Given the description of an element on the screen output the (x, y) to click on. 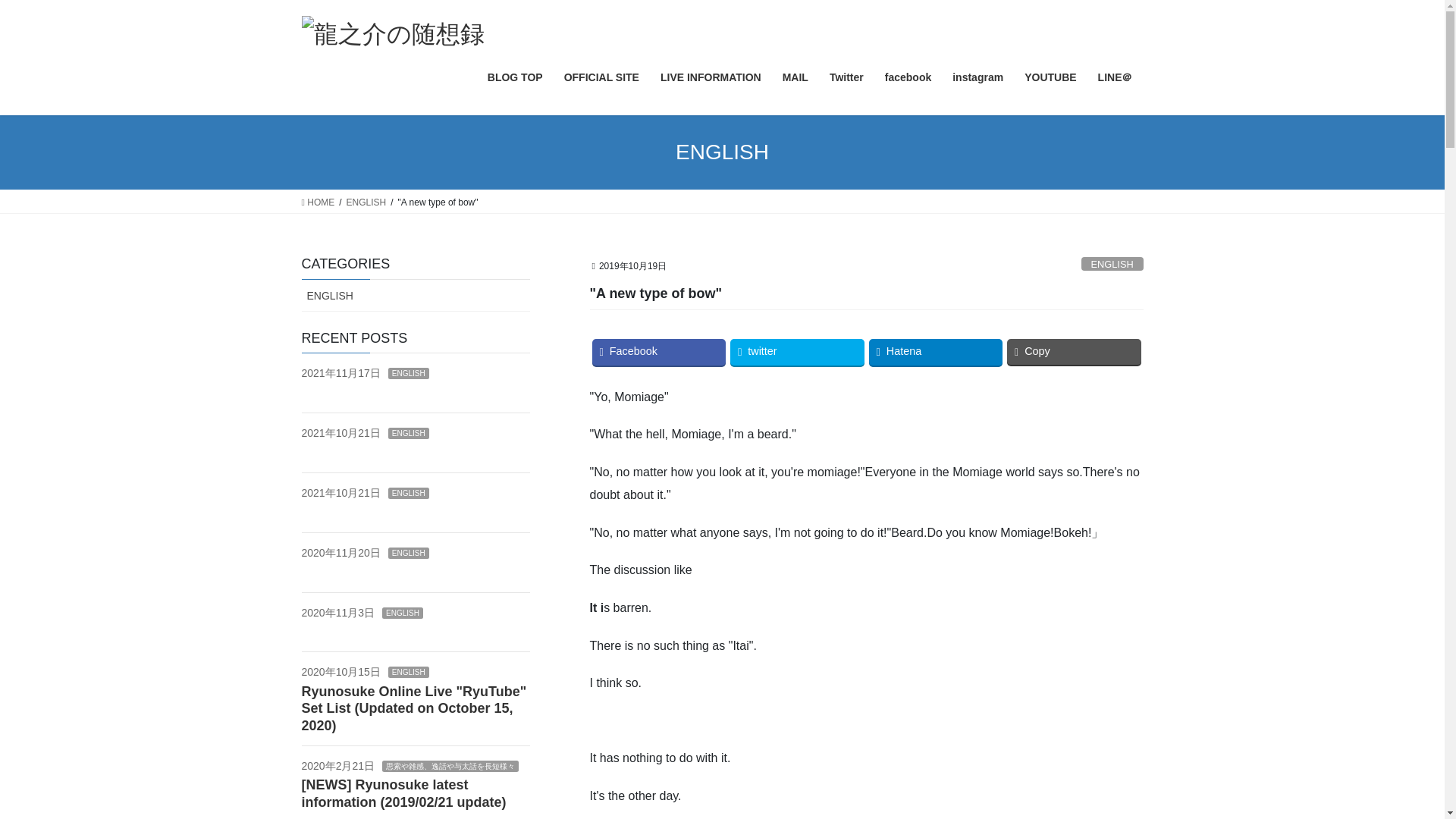
BLOG TOP (515, 77)
Facebook (658, 351)
MAIL (794, 77)
ENGLISH (408, 432)
facebook (908, 77)
ENGLISH (408, 492)
Hatena (936, 351)
twitter (797, 351)
LIVE INFORMATION (710, 77)
ENGLISH (408, 552)
